Given the description of an element on the screen output the (x, y) to click on. 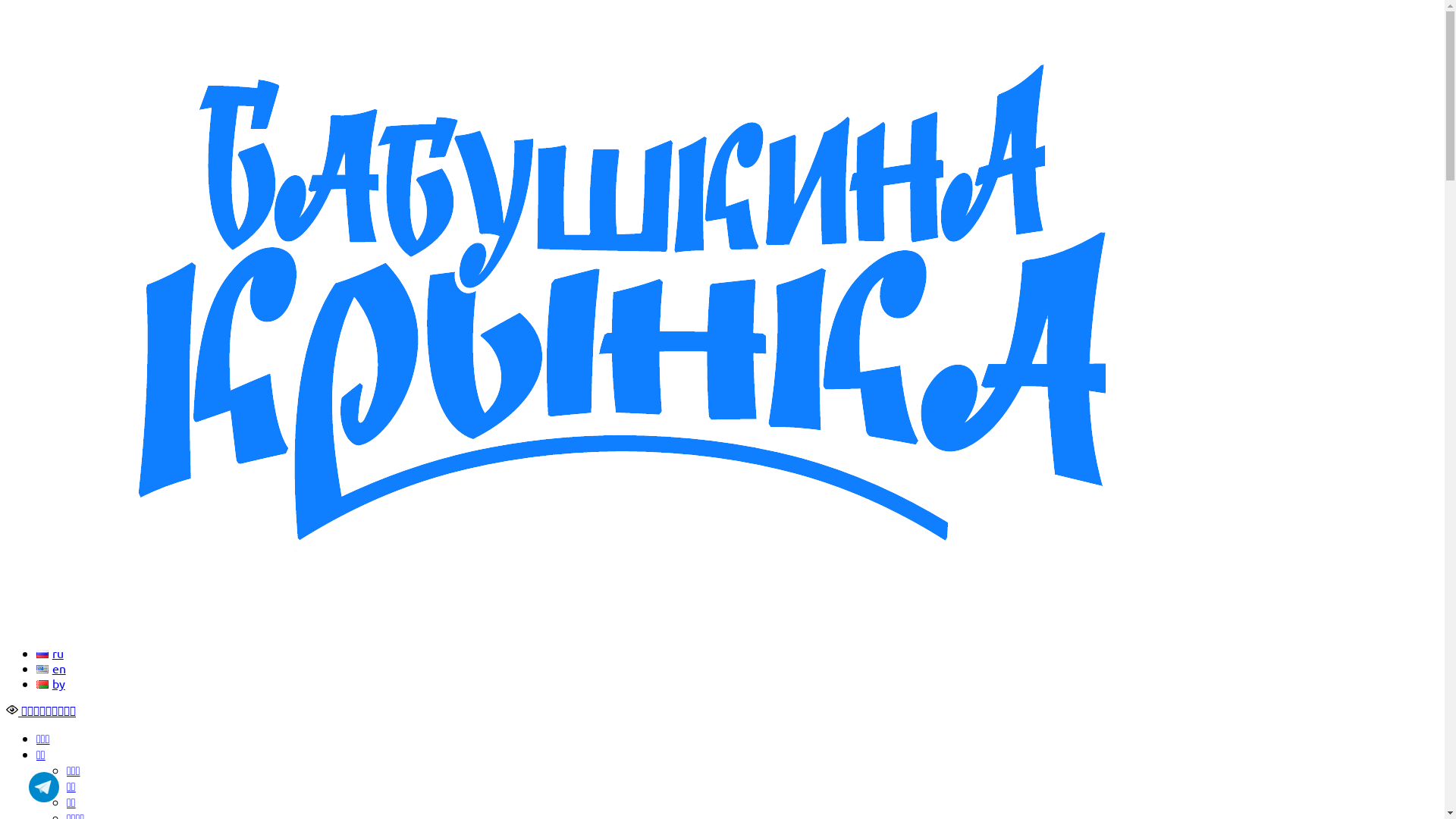
en Element type: text (50, 667)
ru Element type: text (49, 652)
by Element type: text (50, 682)
